Given the description of an element on the screen output the (x, y) to click on. 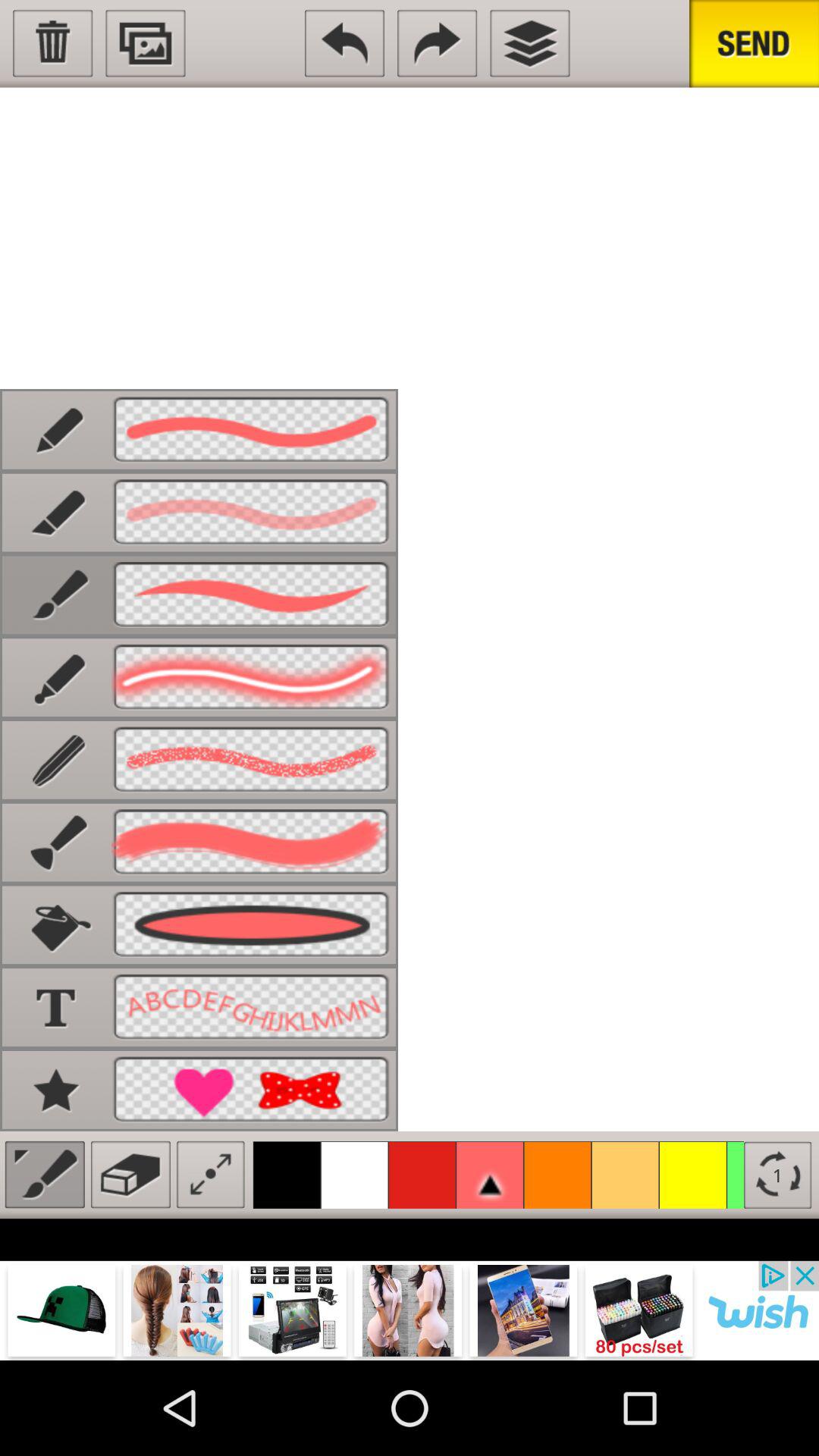
redo action (437, 43)
